Given the description of an element on the screen output the (x, y) to click on. 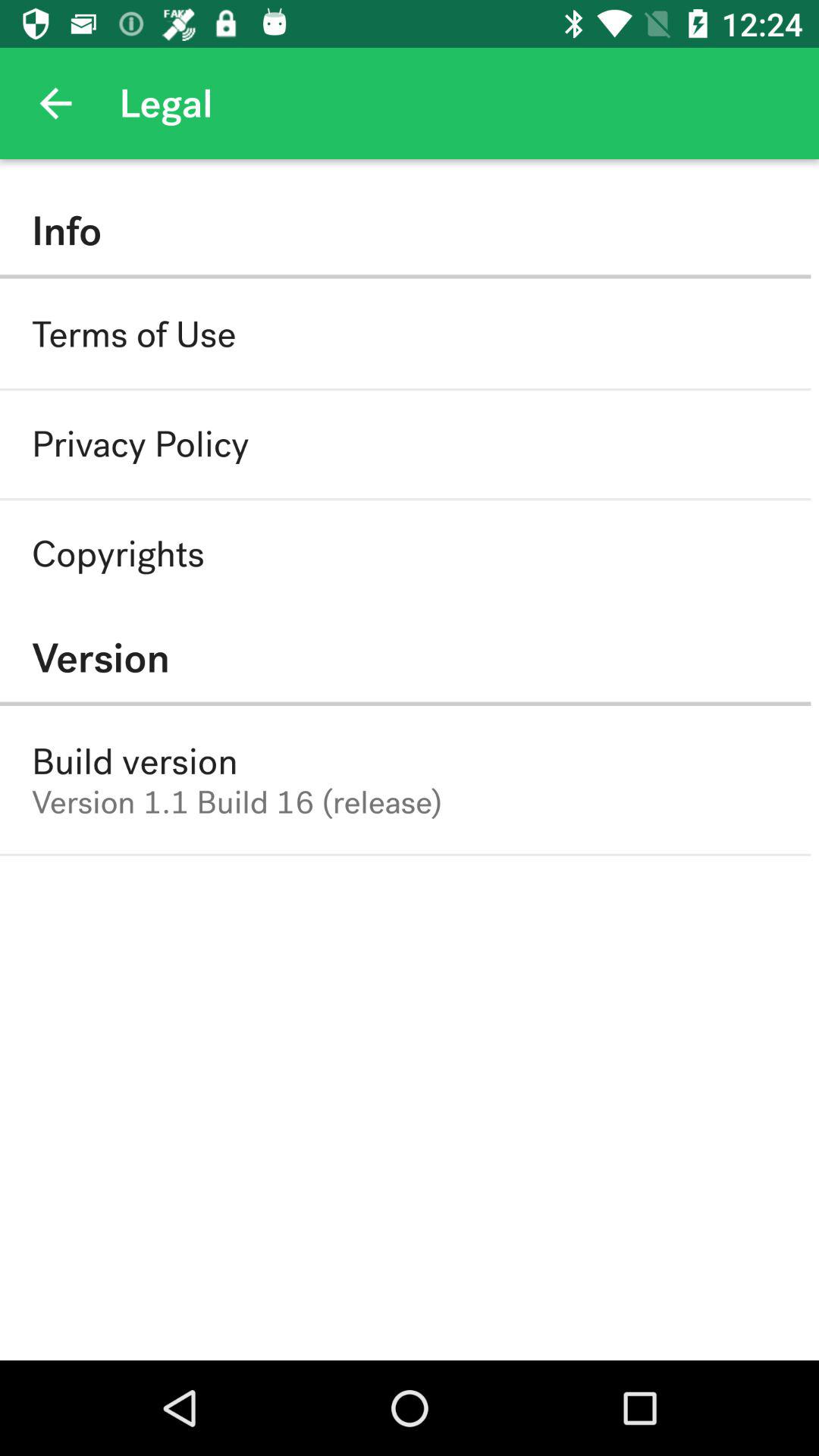
click the item to the left of the legal icon (55, 103)
